Given the description of an element on the screen output the (x, y) to click on. 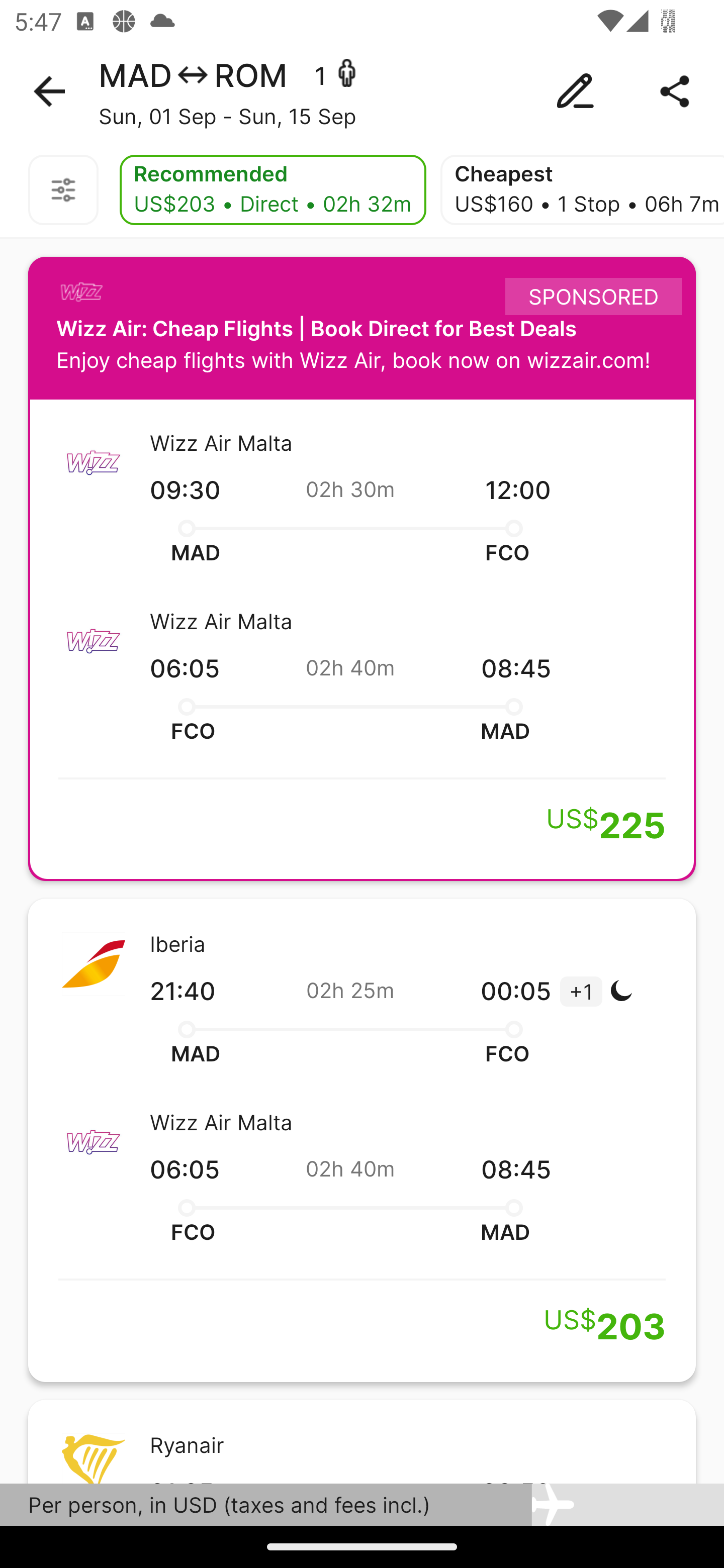
MAD ROM   1 - Sun, 01 Sep - Sun, 15 Sep (362, 91)
MAD ROM   1 - Sun, 01 Sep - Sun, 15 Sep (361, 91)
Recommended  US$203 • Direct • 02h 32m (272, 190)
Cheapest US$160 • 1 Stop • 06h 7m (582, 190)
